Given the description of an element on the screen output the (x, y) to click on. 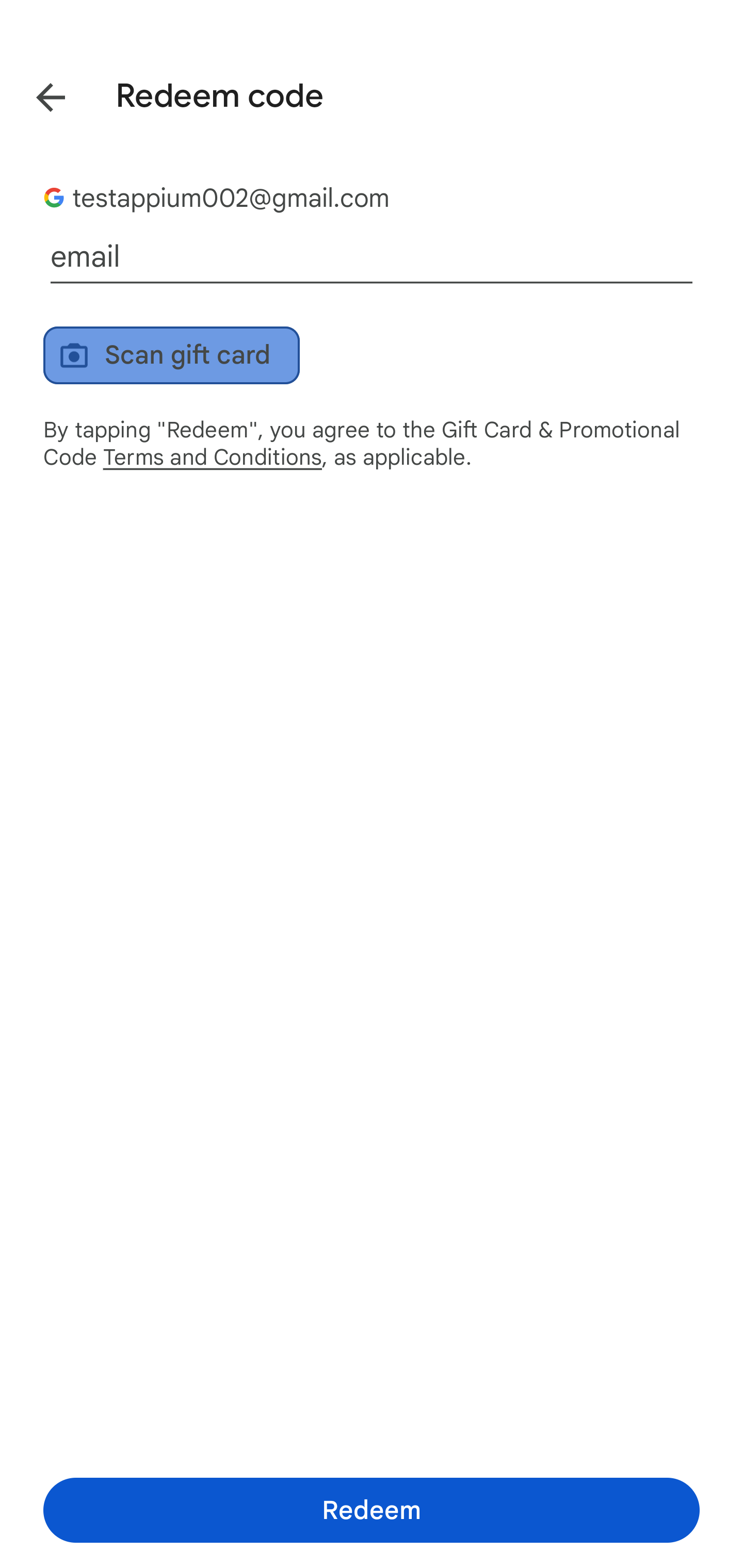
Back (36, 94)
email (371, 256)
Scan gift card (171, 355)
Redeem (371, 1509)
